Given the description of an element on the screen output the (x, y) to click on. 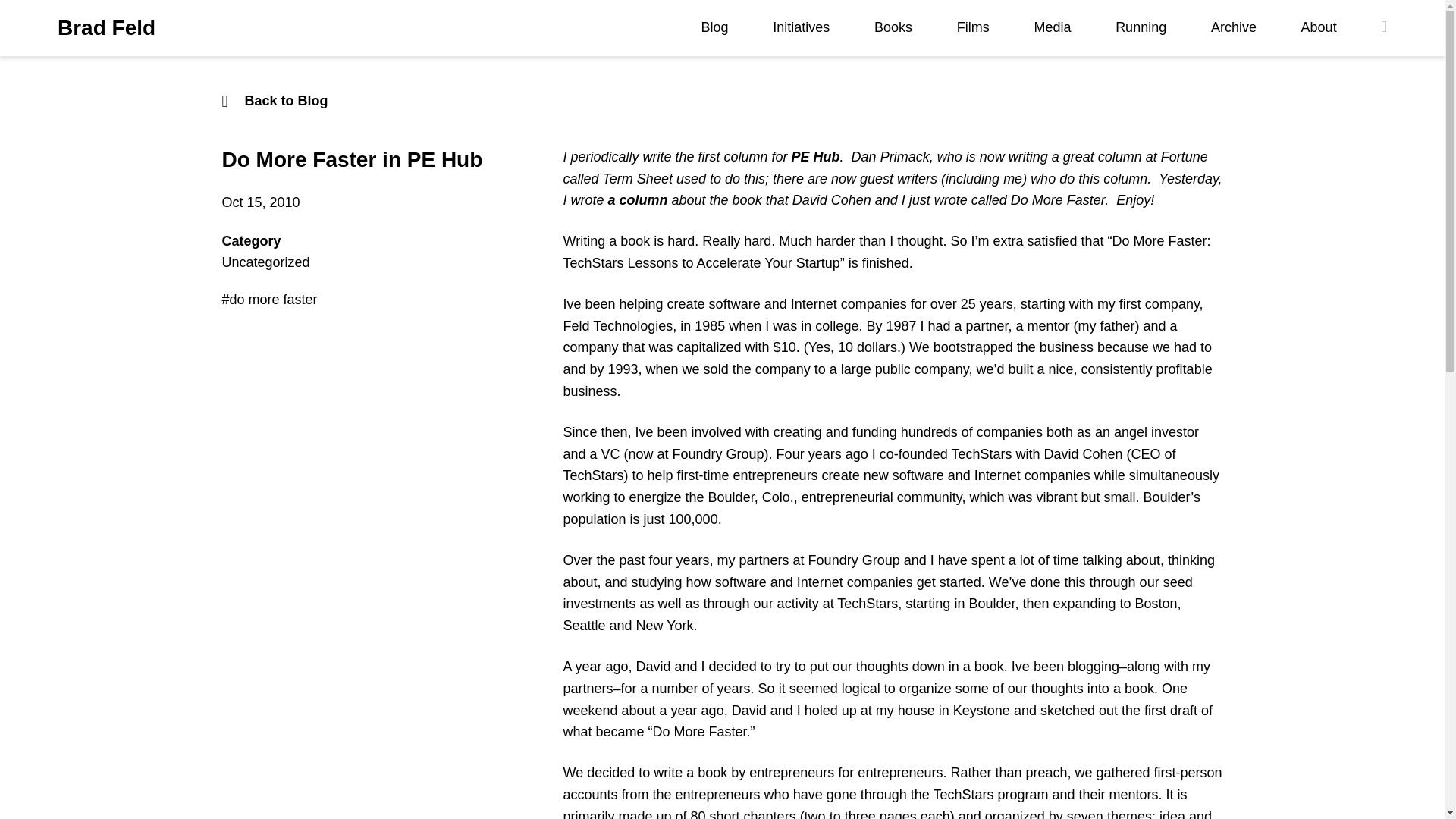
Uncategorized (264, 262)
Initiatives (801, 27)
Back to Blog (722, 101)
a column (638, 200)
Media (1051, 27)
Archive (1233, 27)
PE Hub (816, 156)
Films (973, 27)
Brad Feld (106, 27)
Running (1140, 27)
